Given the description of an element on the screen output the (x, y) to click on. 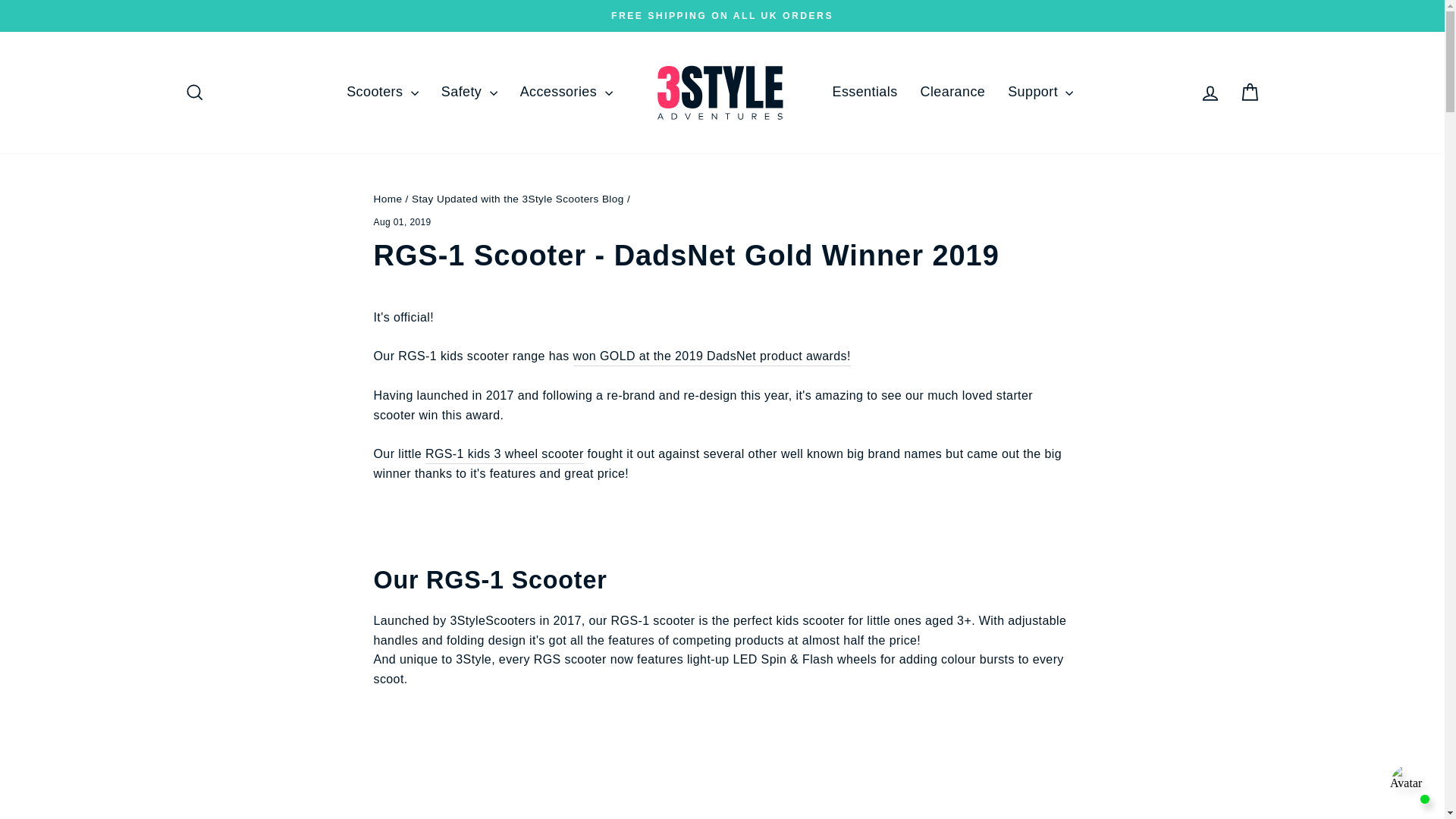
YouTube video player (721, 773)
account (1210, 93)
DadsNet Award (711, 356)
RGS-1 3 Wheel Kids Scooter (504, 454)
Back to the frontpage (386, 198)
icon-search (194, 92)
